Given the description of an element on the screen output the (x, y) to click on. 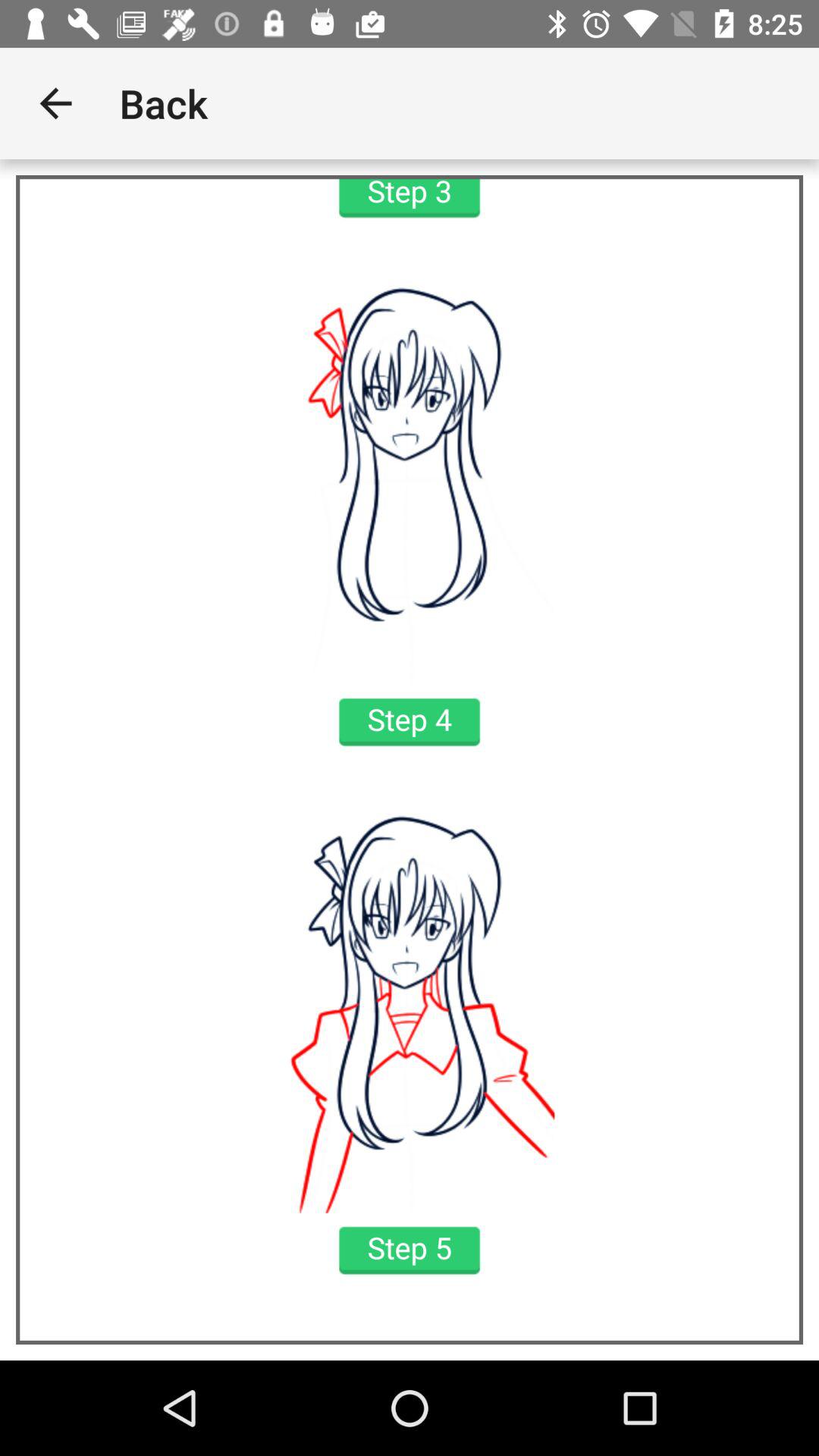
tap icon to the left of back item (55, 103)
